Given the description of an element on the screen output the (x, y) to click on. 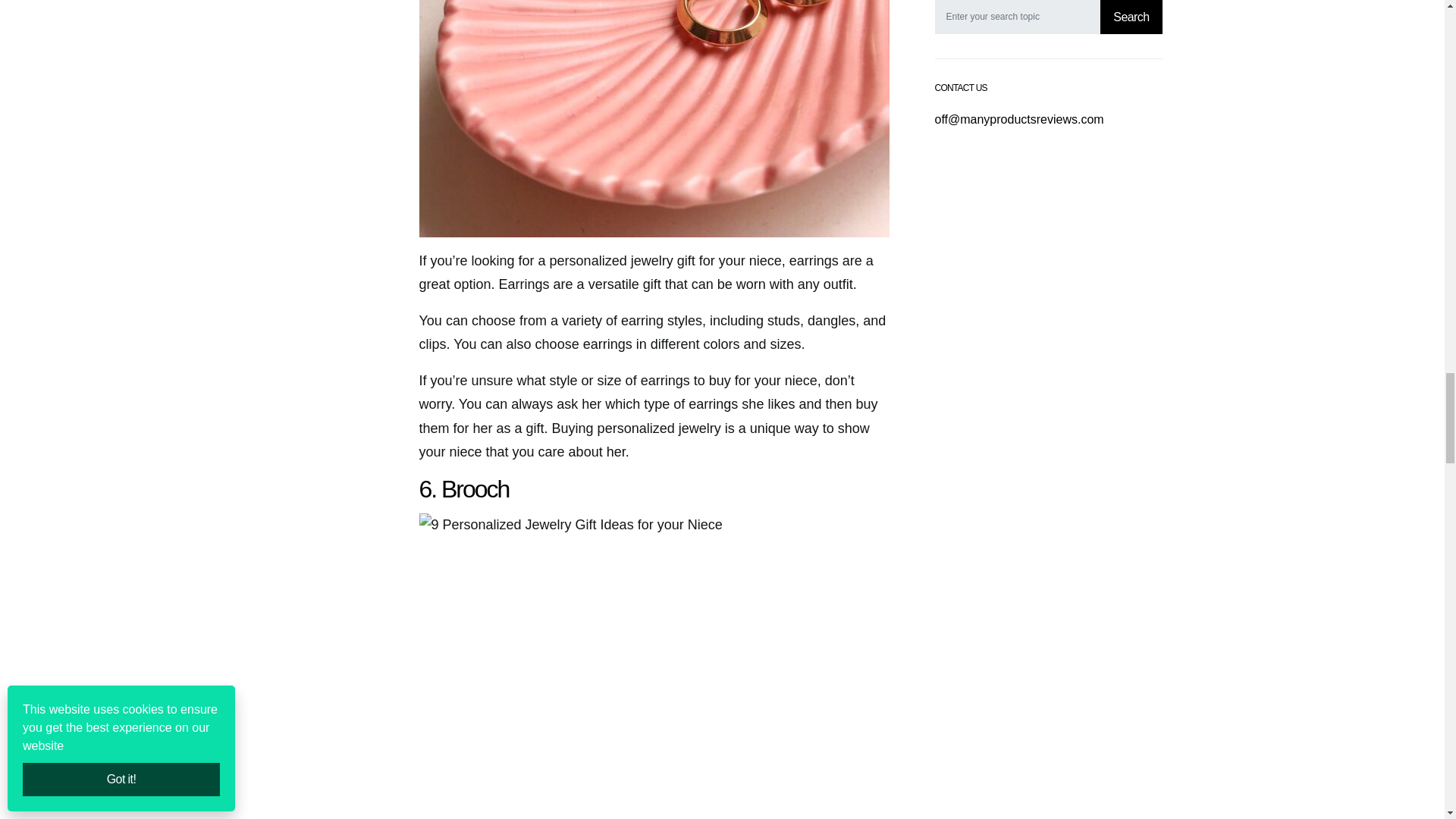
9 Personalized Jewelry Gift Ideas for your Niece (653, 118)
